Given the description of an element on the screen output the (x, y) to click on. 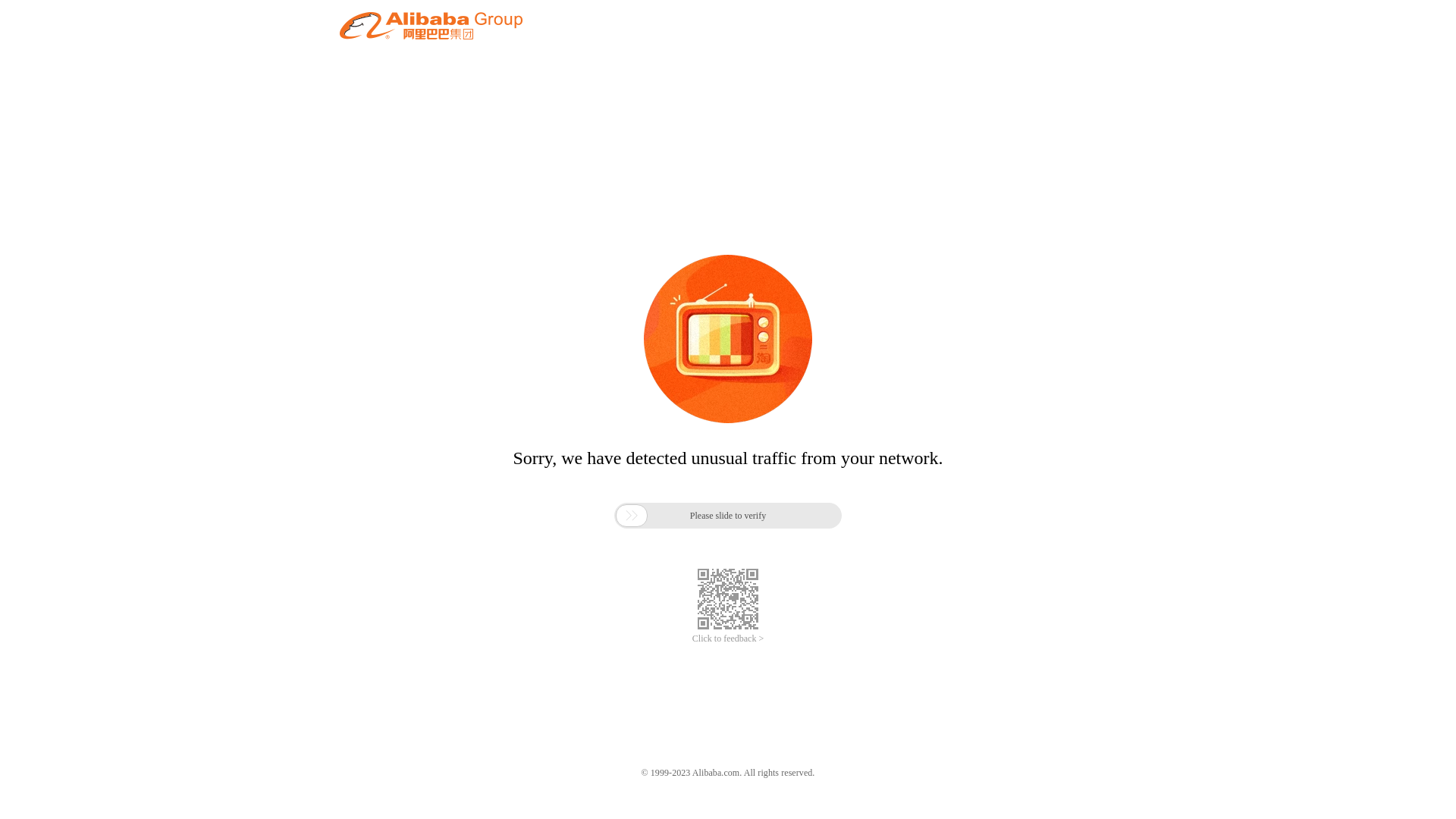
Click to feedback > Element type: text (727, 638)
